Given the description of an element on the screen output the (x, y) to click on. 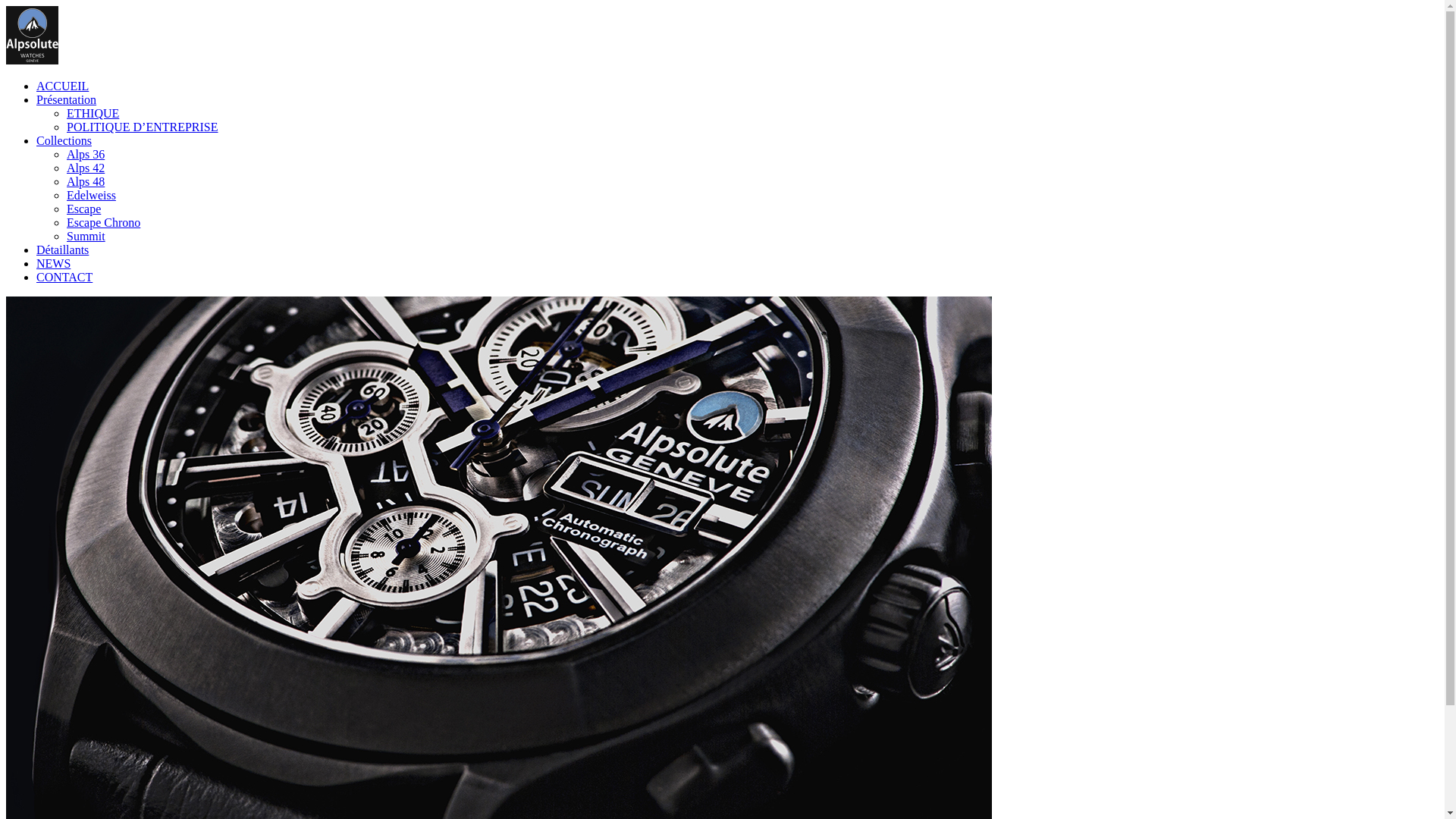
CONTACT Element type: text (64, 276)
Collections Element type: text (63, 140)
Edelweiss Element type: text (91, 194)
Escape Chrono Element type: text (103, 222)
NEWS Element type: text (53, 263)
Summit Element type: text (85, 235)
ACCUEIL Element type: text (62, 85)
Escape Element type: text (83, 208)
Alps 42 Element type: text (85, 167)
ETHIQUE Element type: text (92, 112)
Alps 36 Element type: text (85, 153)
Alps 48 Element type: text (85, 181)
